Given the description of an element on the screen output the (x, y) to click on. 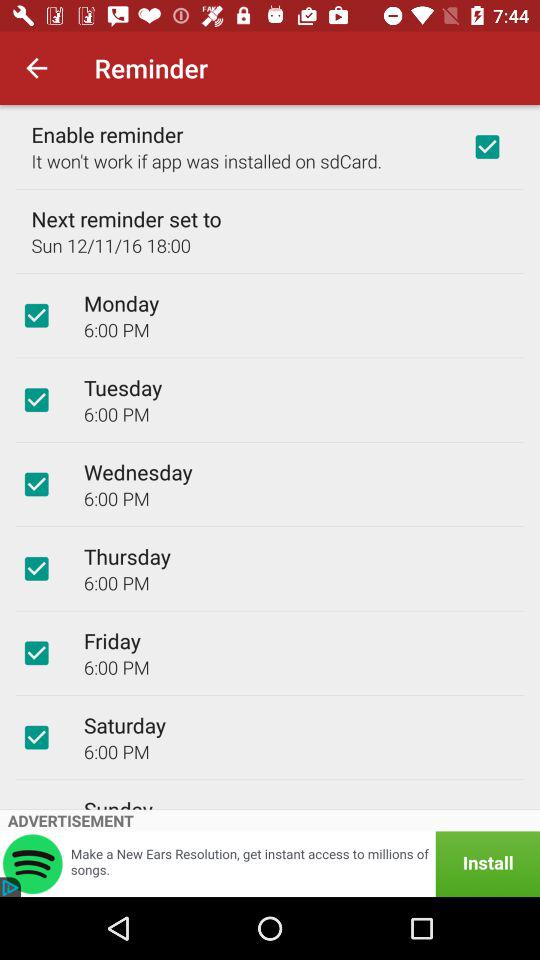
press item next to the thursday icon (36, 568)
